Given the description of an element on the screen output the (x, y) to click on. 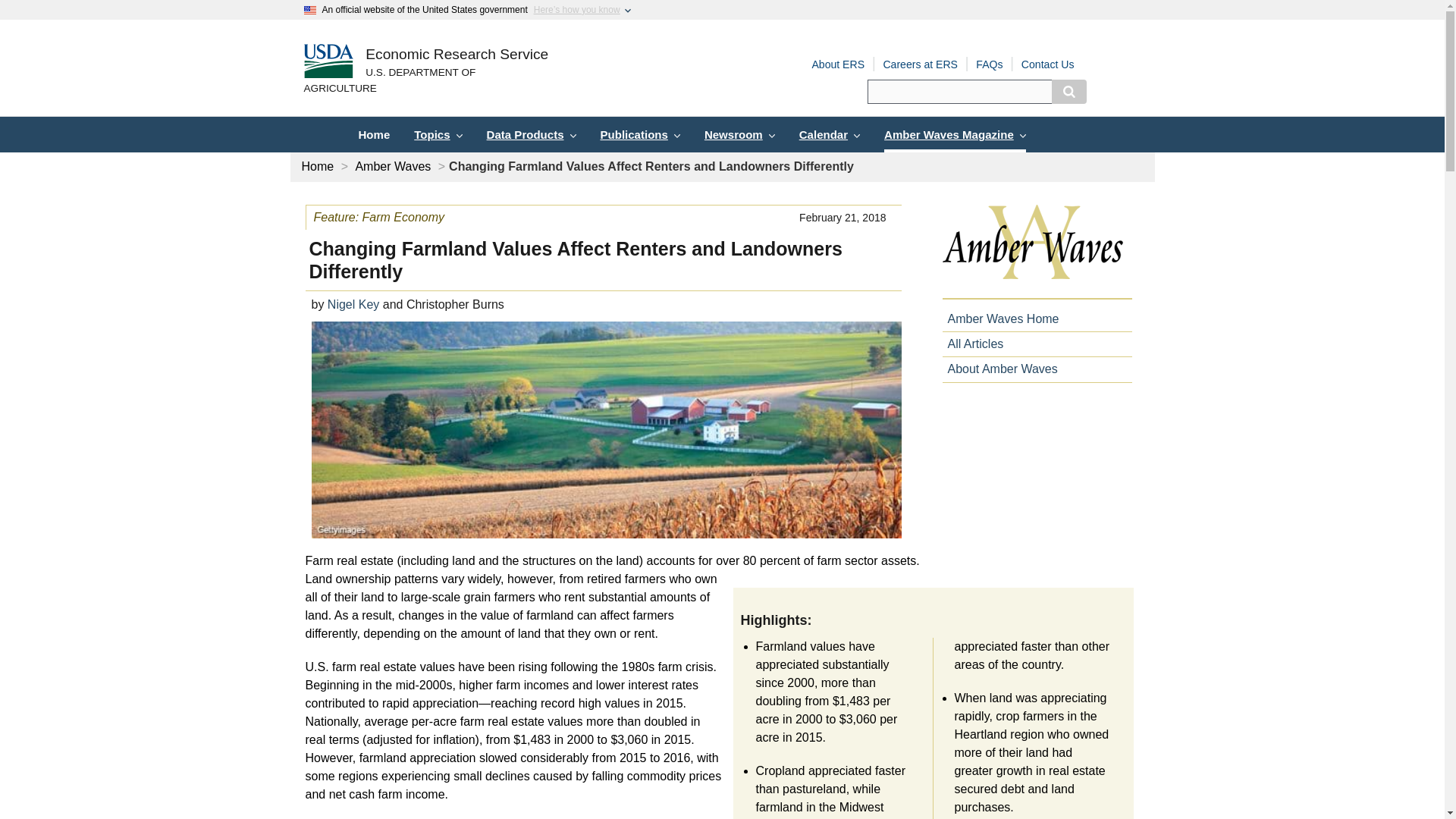
Publications (640, 134)
FAQs (989, 63)
Economic Research Service (456, 54)
About ERS (837, 63)
Topics (437, 134)
Amber Waves Home (1000, 318)
Data Products (531, 134)
Nigel Key (352, 304)
All Articles (972, 343)
Home (373, 134)
